Given the description of an element on the screen output the (x, y) to click on. 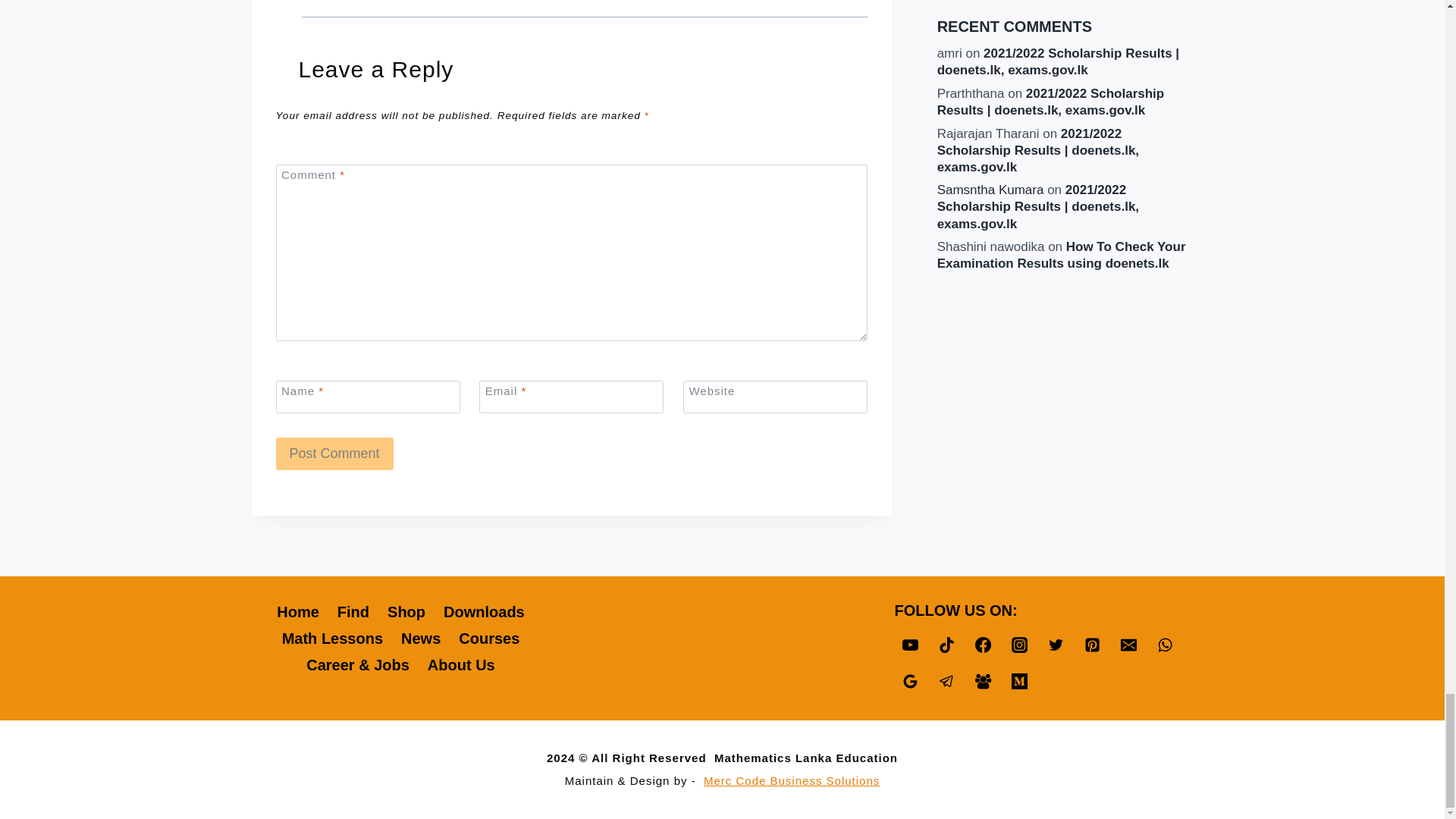
Post Comment (334, 453)
